Given the description of an element on the screen output the (x, y) to click on. 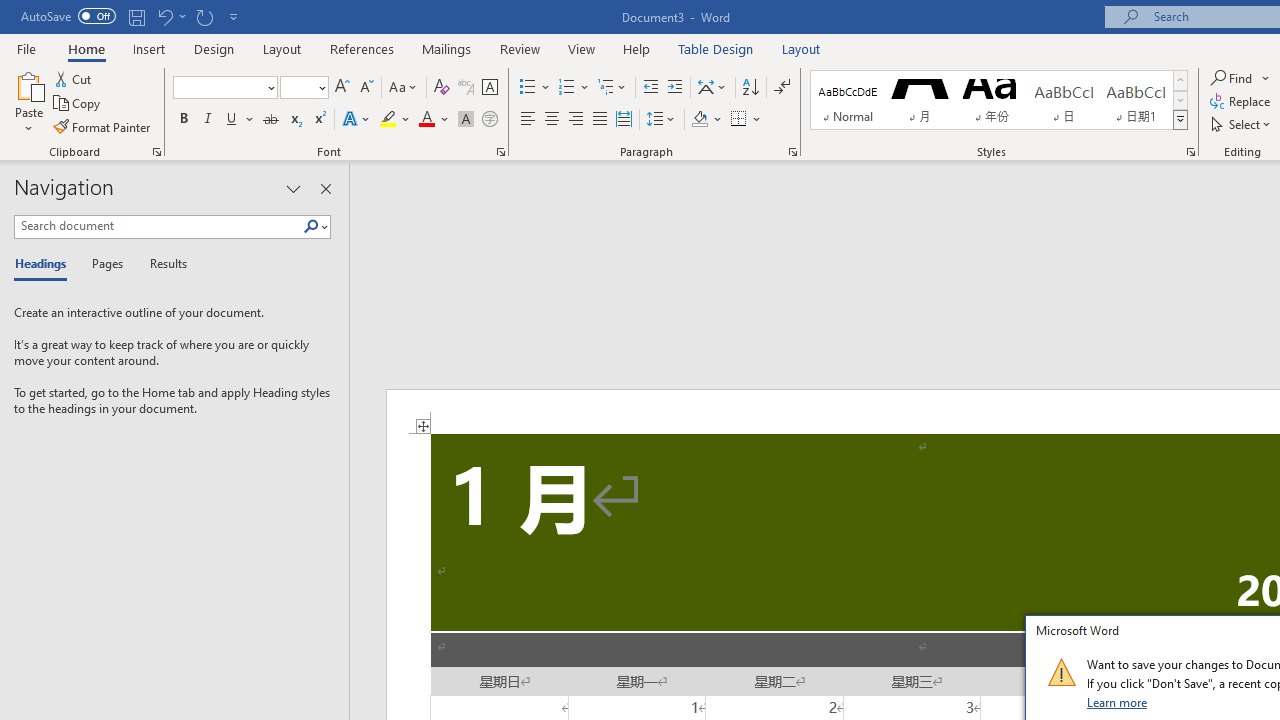
Repeat Style (204, 15)
Enclose Characters... (489, 119)
Superscript (319, 119)
Align Right (575, 119)
Paragraph... (792, 151)
Shading RGB(0, 0, 0) (699, 119)
Shading (706, 119)
Clear Formatting (442, 87)
